Given the description of an element on the screen output the (x, y) to click on. 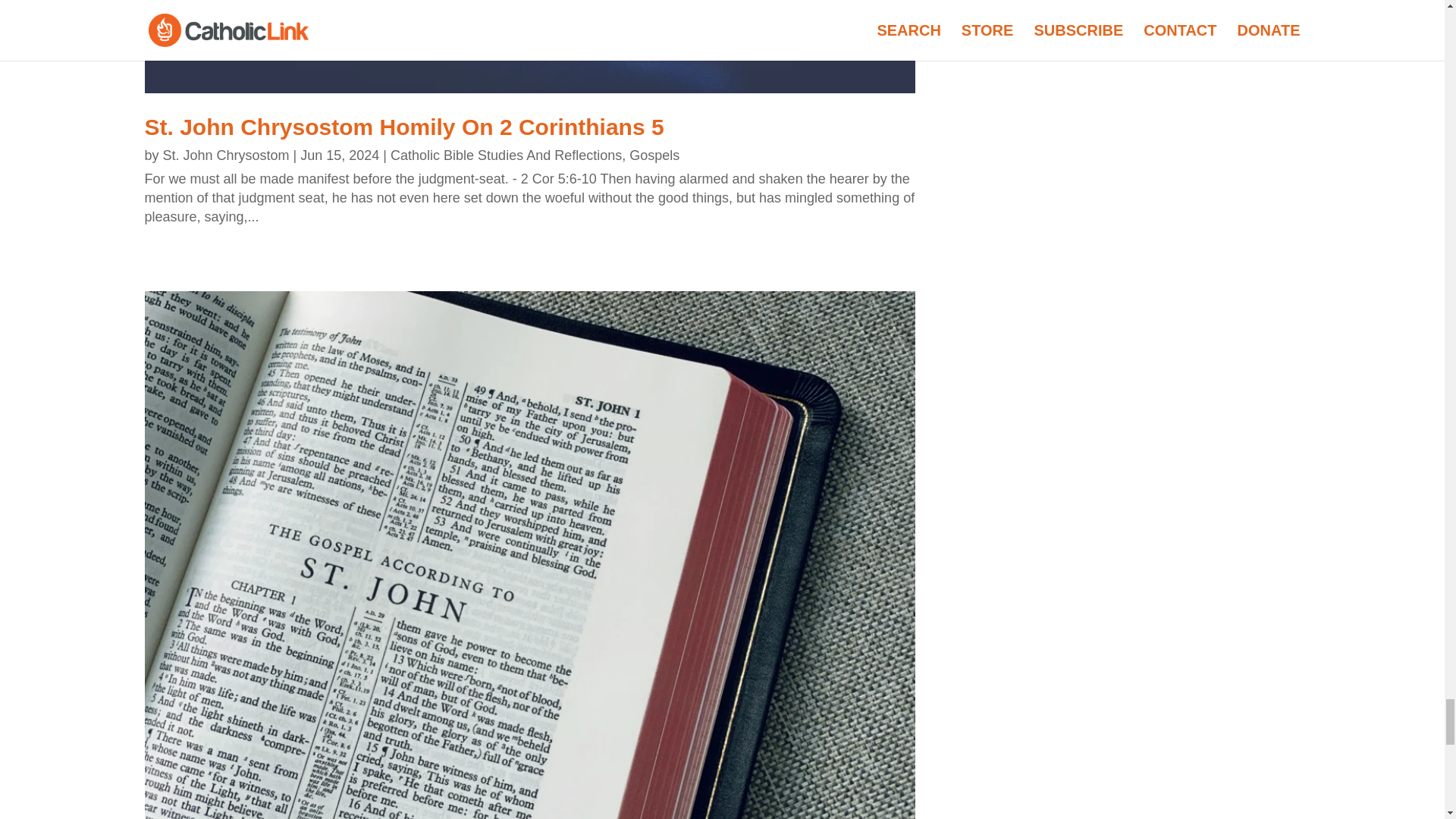
Posts by St. John Chrysostom (226, 155)
